Given the description of an element on the screen output the (x, y) to click on. 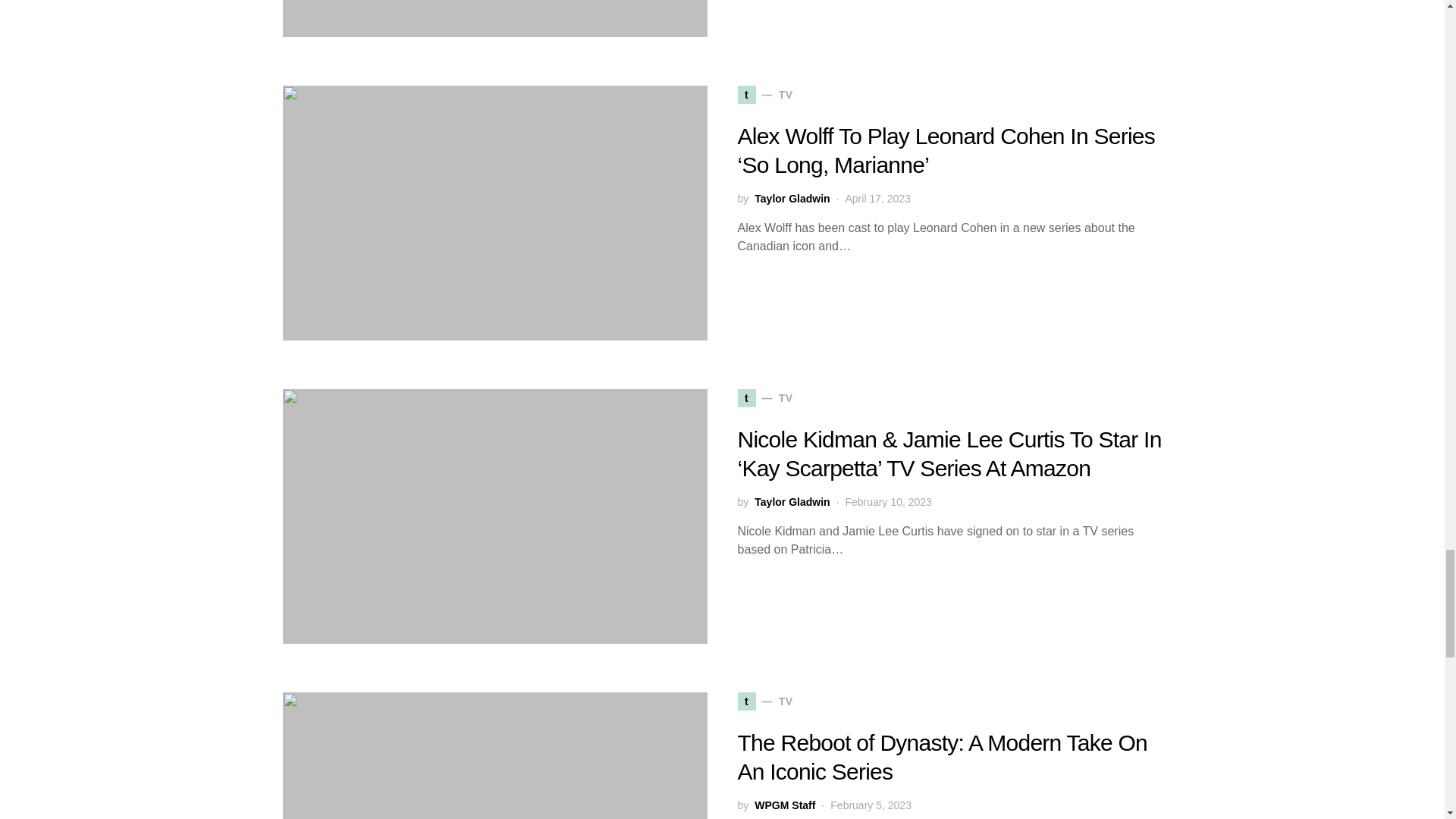
View all posts by Taylor Gladwin (791, 502)
View all posts by Taylor Gladwin (791, 198)
View all posts by WPGM Staff (784, 805)
